Given the description of an element on the screen output the (x, y) to click on. 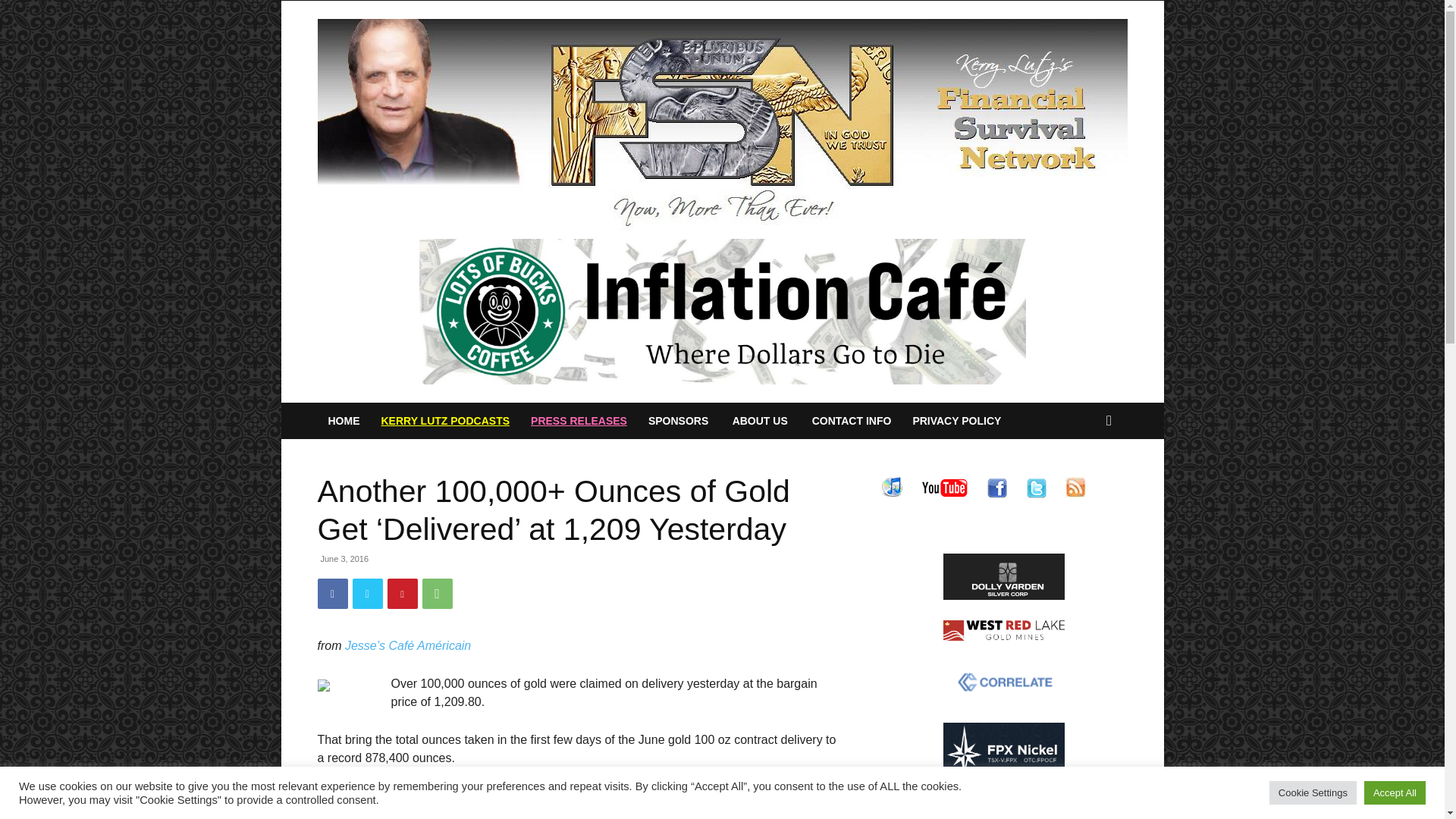
Twitter (366, 593)
WhatsApp (436, 593)
 ABOUT US  (759, 420)
SPONSORS (678, 420)
Search (1085, 481)
PRESS RELEASES (578, 420)
KERRY LUTZ PODCASTS (444, 420)
Pinterest (401, 593)
Facebook (332, 593)
HOME (343, 420)
PRIVACY POLICY (956, 420)
CONTACT INFO (852, 420)
